Given the description of an element on the screen output the (x, y) to click on. 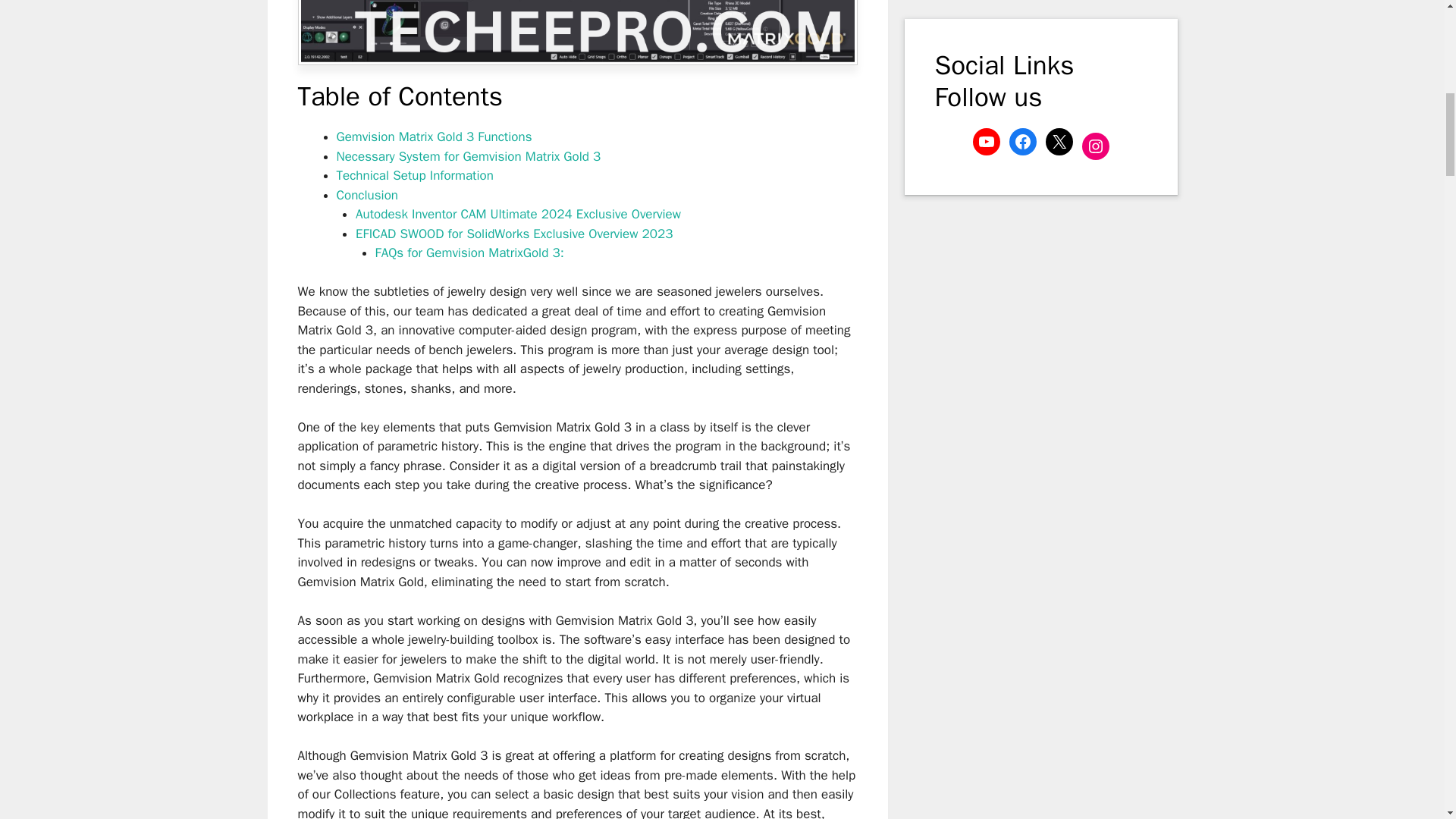
Autodesk Inventor CAM Ultimate 2024 Exclusive Overview (518, 213)
Technical Setup Information (414, 175)
FAQs for Gemvision MatrixGold 3: (468, 252)
Scroll back to top (1406, 720)
Conclusion (366, 195)
Necessary System for Gemvision Matrix Gold 3 (468, 156)
Gemvision Matrix Gold 3 Functions (434, 136)
EFICAD SWOOD for SolidWorks Exclusive Overview 2023 (513, 233)
